Given the description of an element on the screen output the (x, y) to click on. 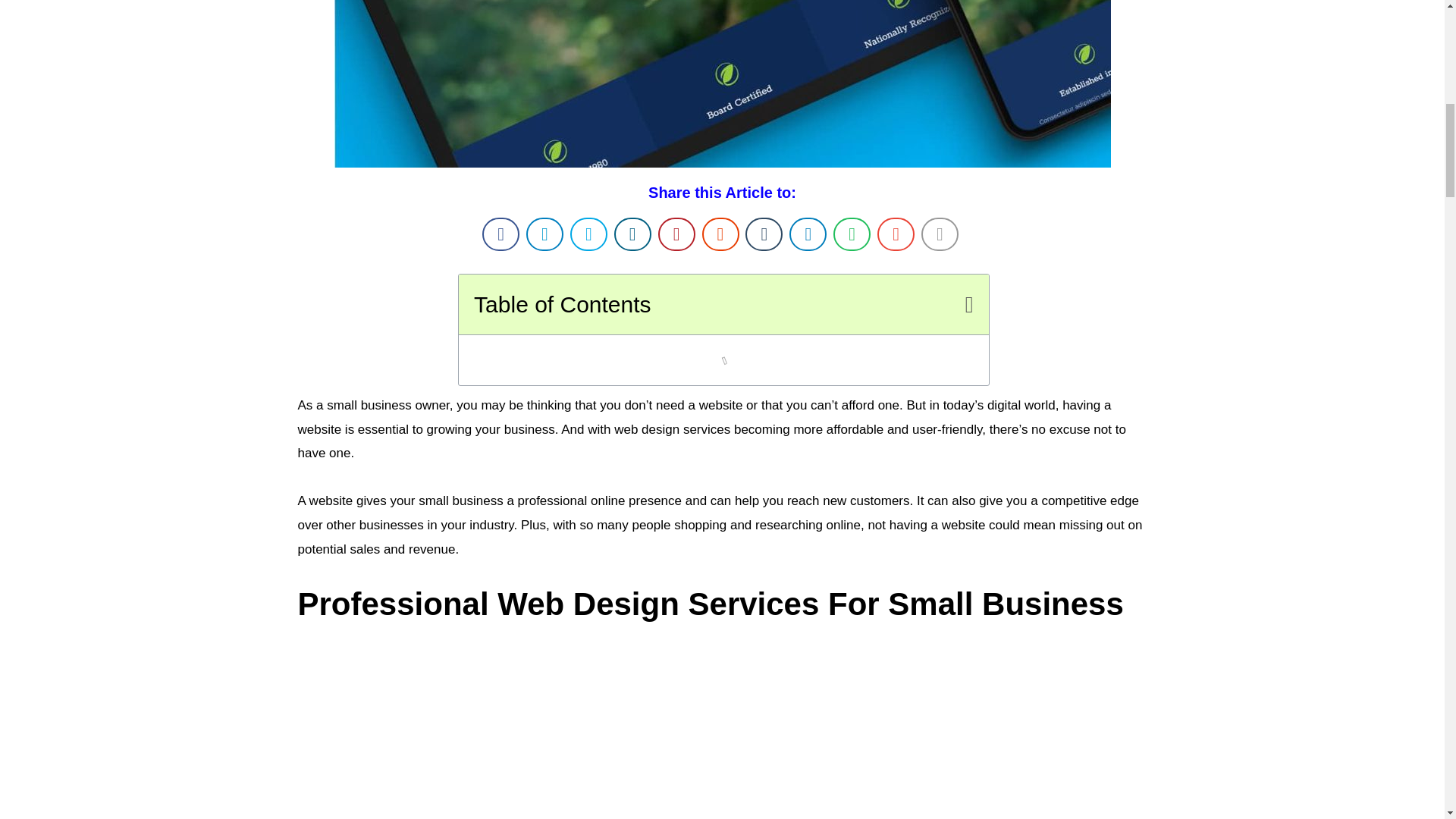
Share on tumblr (764, 233)
Share on facebook (500, 233)
Share on email (896, 233)
Share on pinterest (676, 233)
Share on print (938, 233)
Share on whatsapp (851, 233)
Share on reddit (720, 233)
Share on skype (587, 233)
Share on linkedin (631, 233)
Professional Web Design Services For Small Business (722, 745)
Share on telegram (807, 233)
Share on twitter (544, 233)
